Given the description of an element on the screen output the (x, y) to click on. 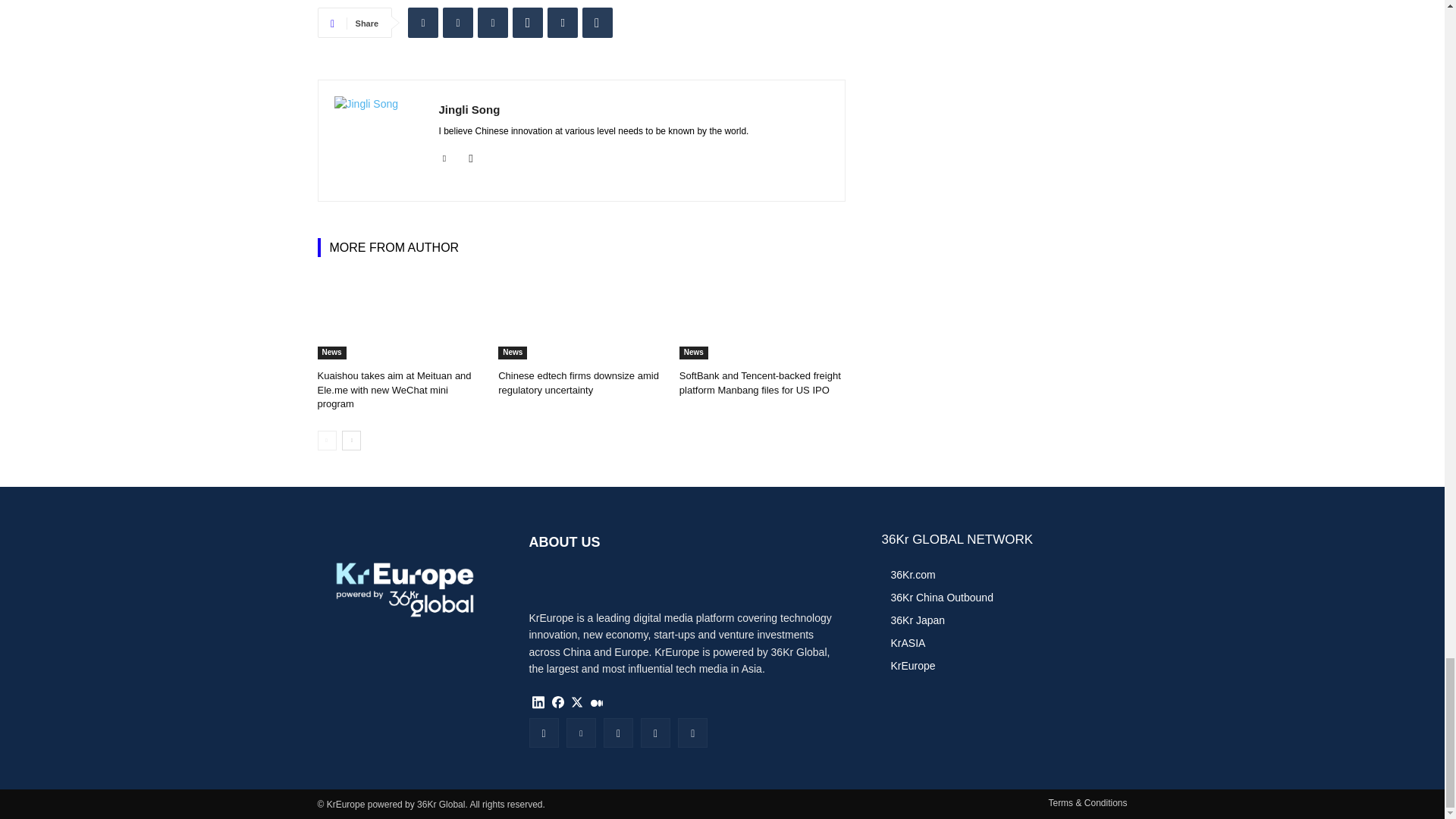
Linkedin (443, 155)
Jingli Song (377, 140)
Twitter (457, 22)
Mail (471, 155)
Facebook (492, 22)
Email (562, 22)
Copy URL (597, 22)
WhatsApp (527, 22)
Linkedin (422, 22)
